Given the description of an element on the screen output the (x, y) to click on. 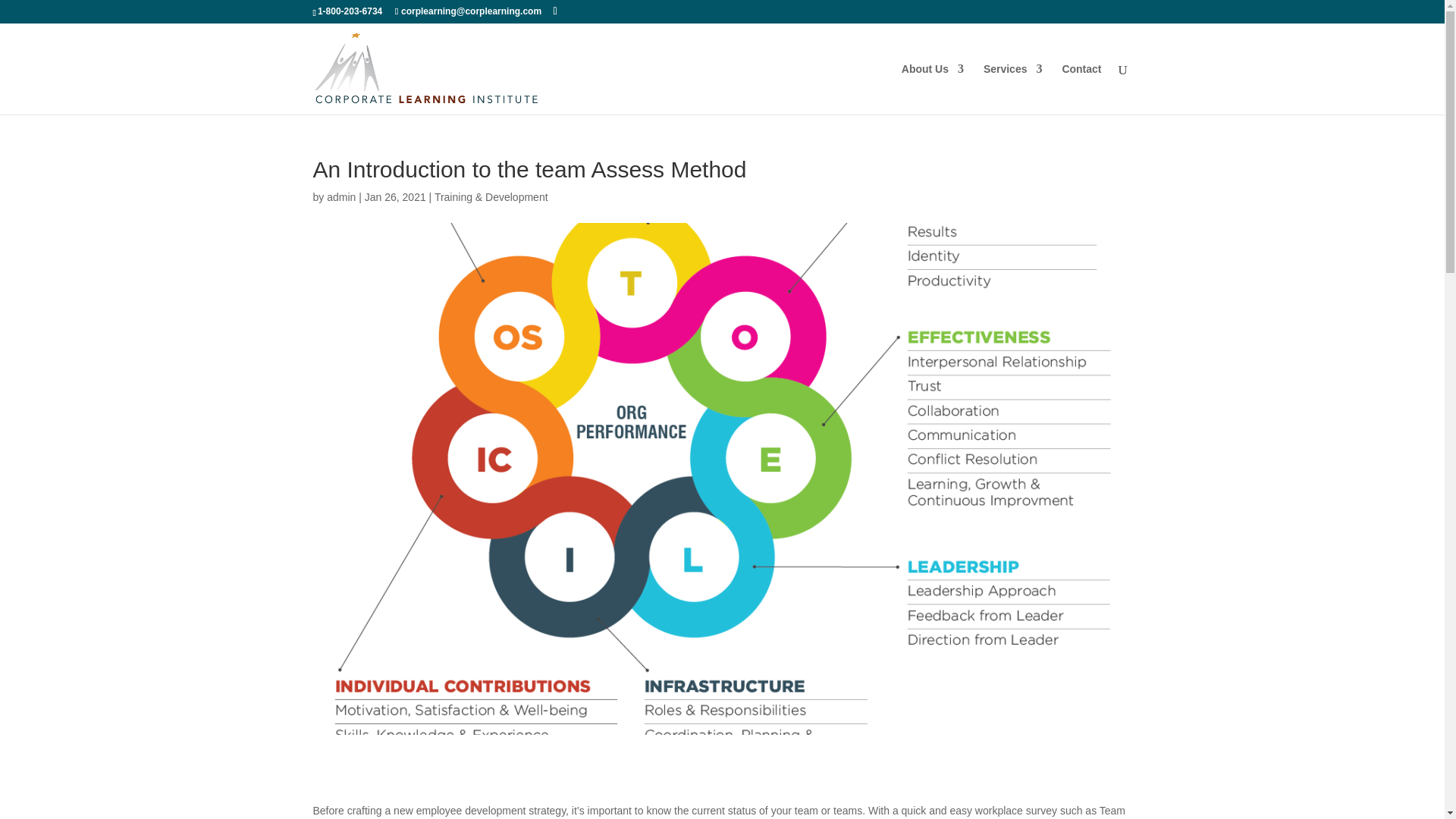
About Us (932, 88)
Services (1013, 88)
admin (340, 196)
Posts by admin (340, 196)
Contact (1080, 88)
